Given the description of an element on the screen output the (x, y) to click on. 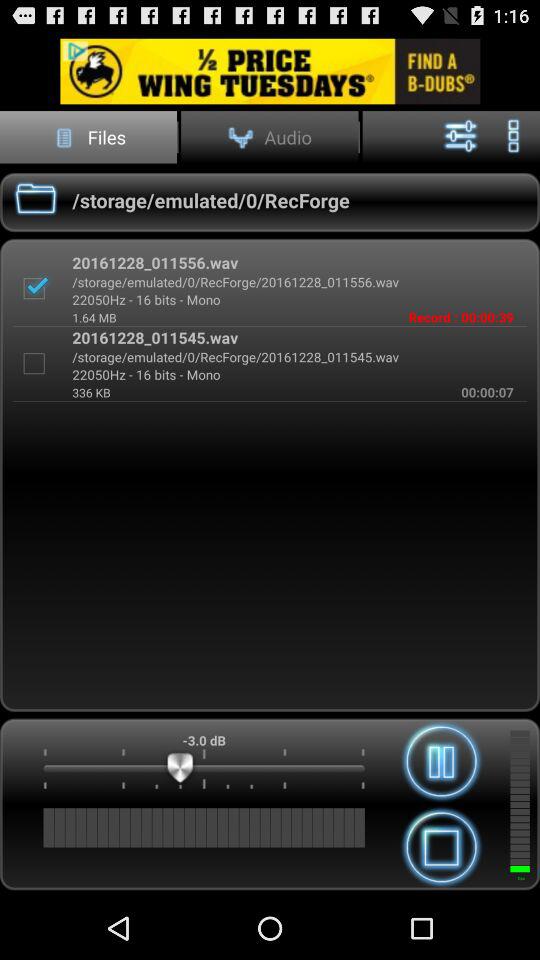
advertisement for b-dubs (270, 70)
